Given the description of an element on the screen output the (x, y) to click on. 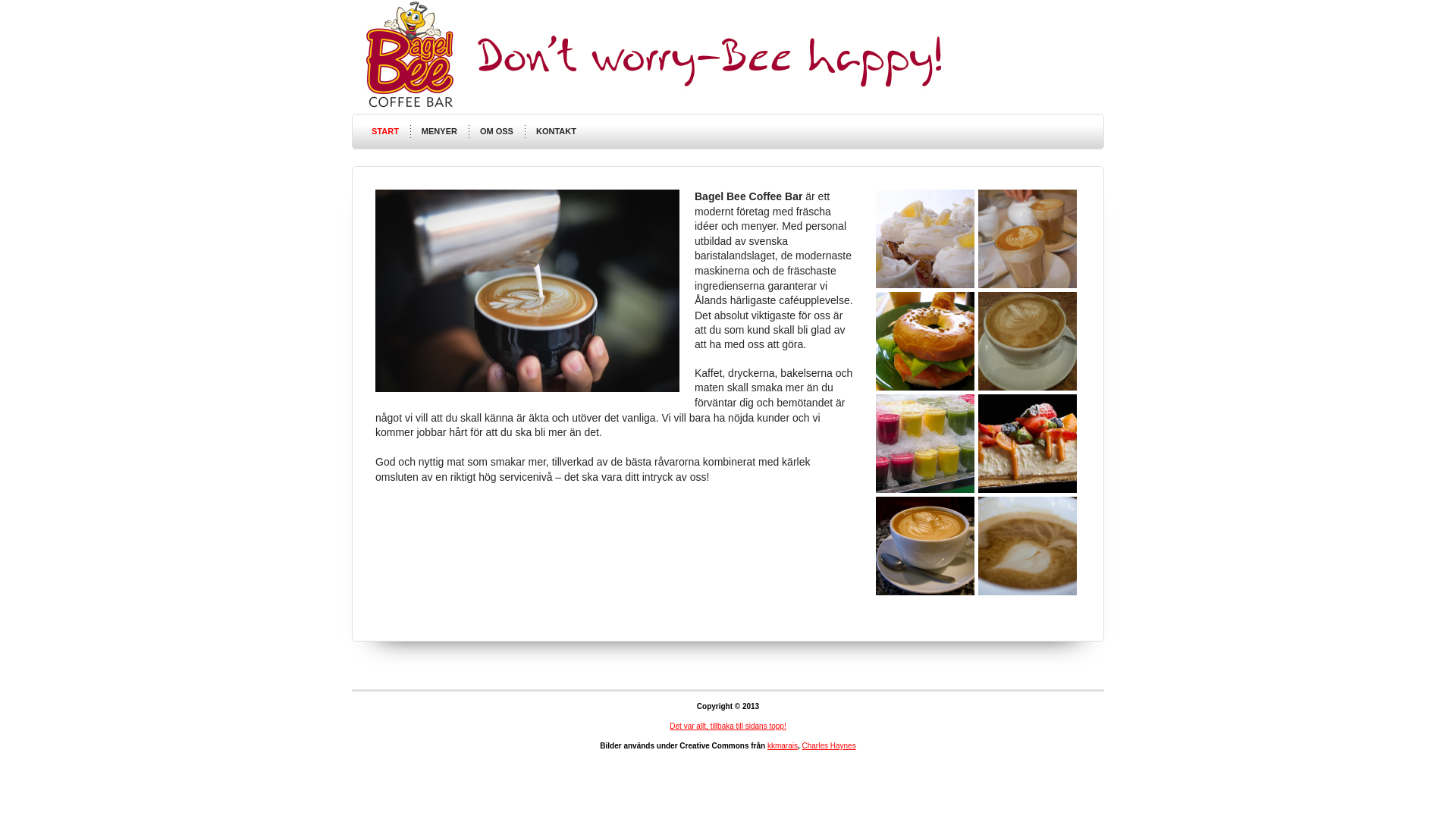
Eva, Blanka och Ida Element type: hover (527, 290)
Det var allt, tillbaka till sidans topp! Element type: text (727, 725)
MENYER Element type: text (439, 131)
OM OSS Element type: text (496, 131)
Eva, Blanka och Ida Element type: hover (527, 388)
START Element type: text (385, 131)
Charles Haynes Element type: text (829, 745)
KONTAKT Element type: text (555, 131)
kkmarais Element type: text (782, 745)
